Given the description of an element on the screen output the (x, y) to click on. 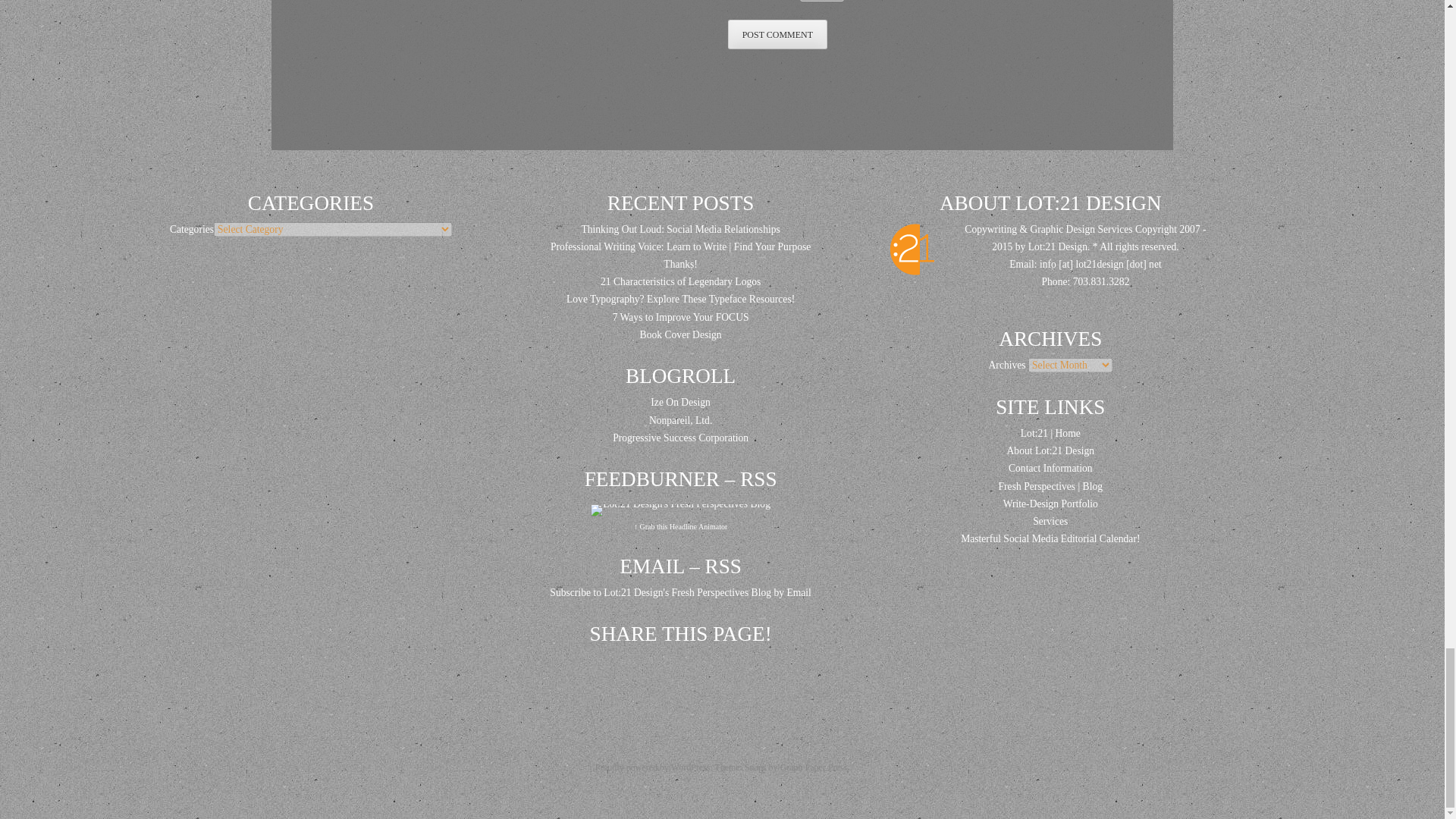
Thinking Out Loud: Social Media Relationships (679, 229)
Thanks! (680, 264)
Post Comment (777, 34)
Post Comment (777, 34)
